Given the description of an element on the screen output the (x, y) to click on. 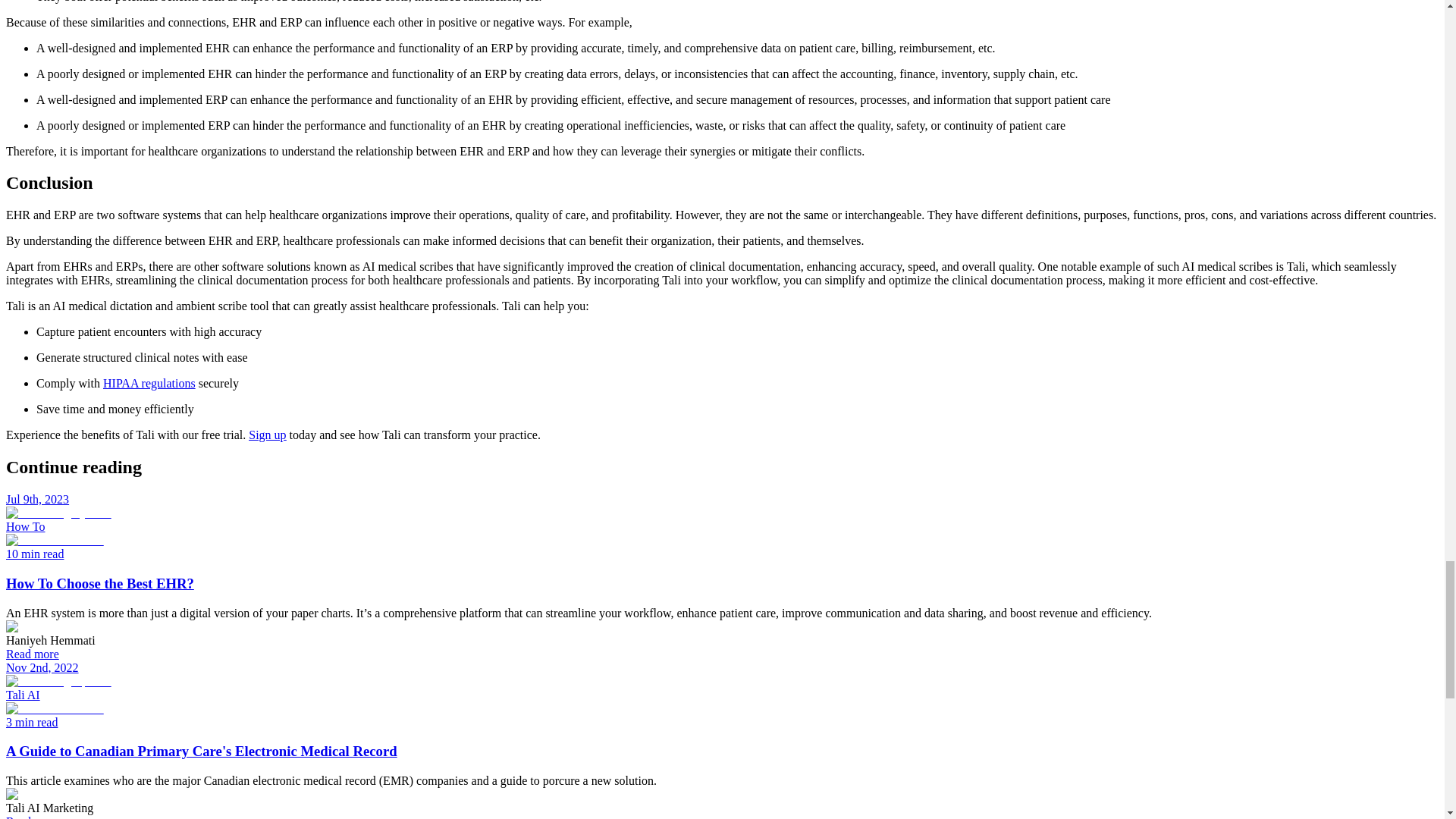
Read more (32, 653)
Read more (32, 816)
Sign up (266, 434)
HIPAA regulations (149, 382)
